Given the description of an element on the screen output the (x, y) to click on. 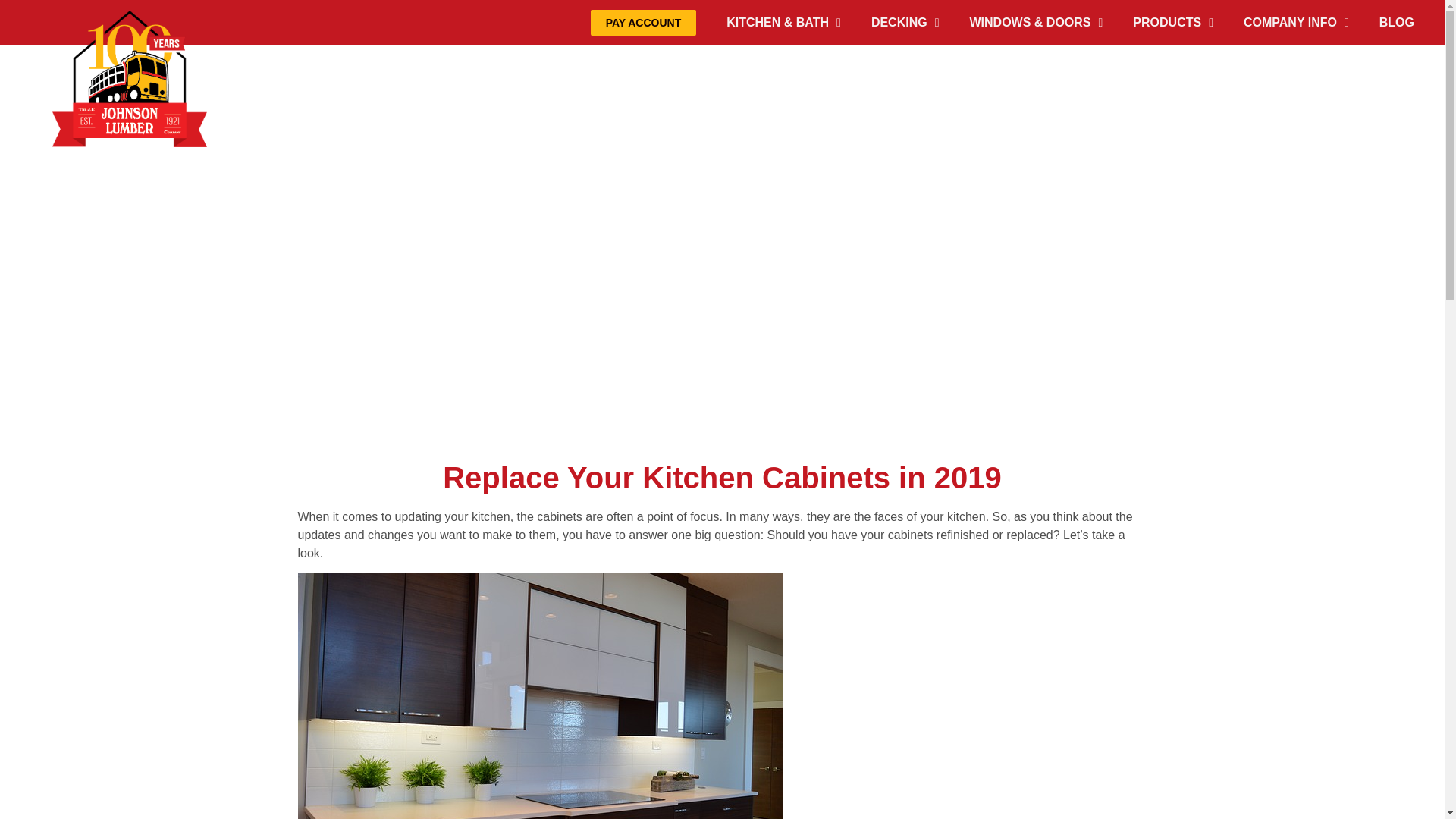
COMPANY INFO (1296, 22)
PAY ACCOUNT (644, 22)
DECKING (905, 22)
Replace Your Kitchen Cabinets in 2019 1 (540, 696)
BLOG (1396, 22)
PRODUCTS (1173, 22)
